Given the description of an element on the screen output the (x, y) to click on. 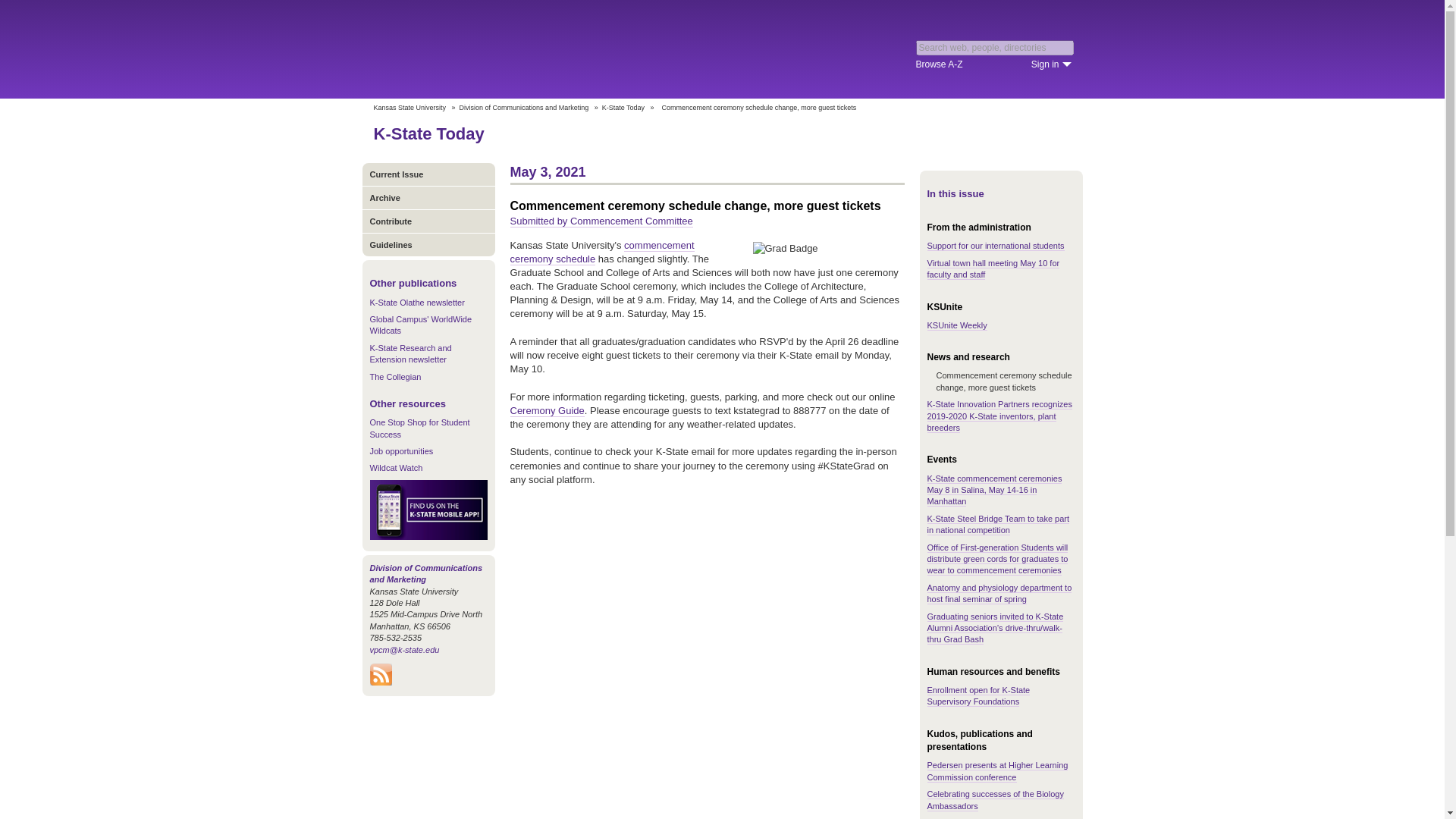
K-State Olathe newsletter (416, 302)
Sign in (1050, 64)
Division of Communications and Marketing (426, 573)
Virtual town hall meeting May 10 for faculty and staff (992, 269)
Archive (428, 197)
Contribute (428, 220)
